Given the description of an element on the screen output the (x, y) to click on. 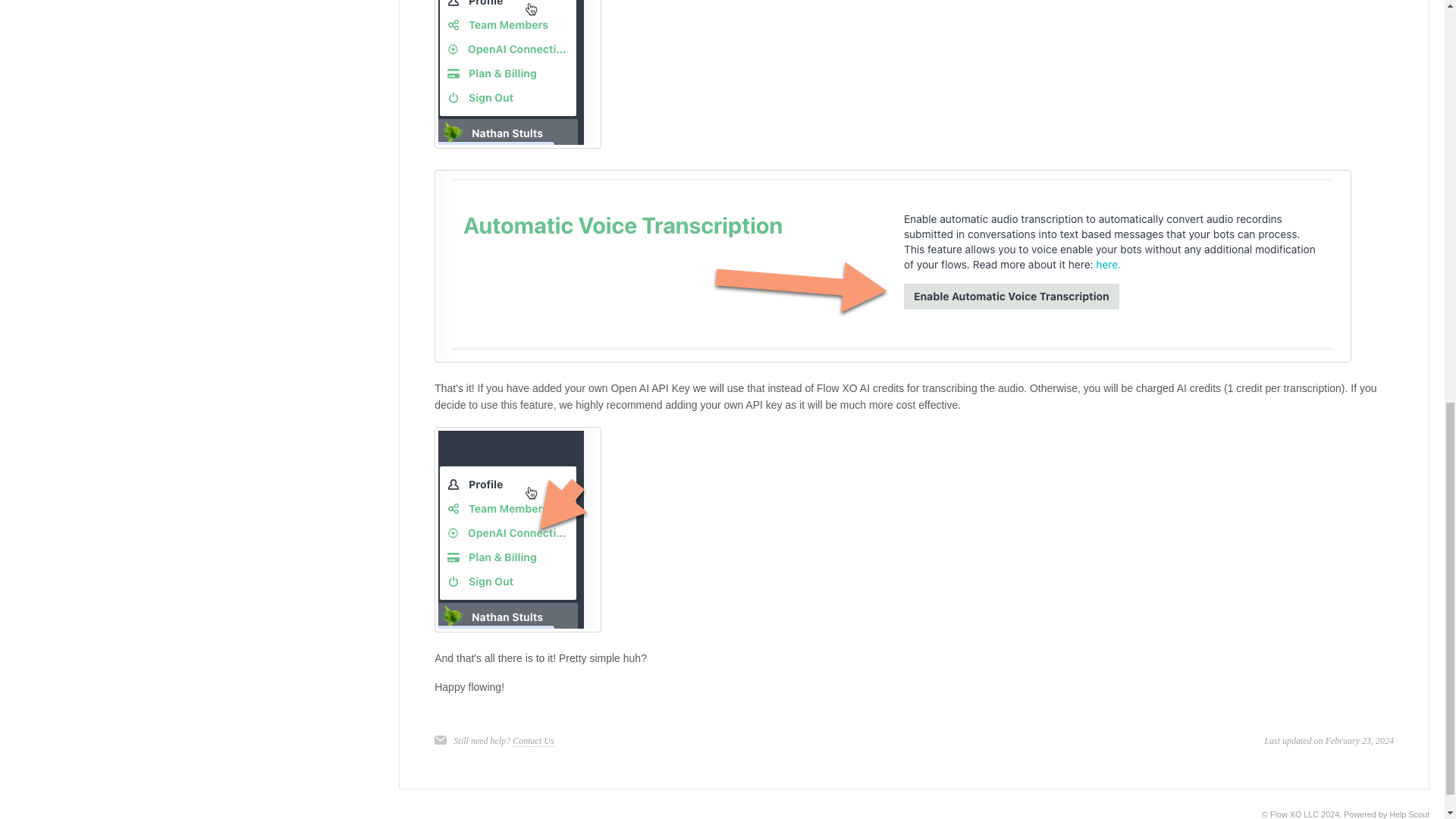
Contact Us (532, 740)
Help Scout (1409, 814)
Flow XO LLC (1294, 814)
